Given the description of an element on the screen output the (x, y) to click on. 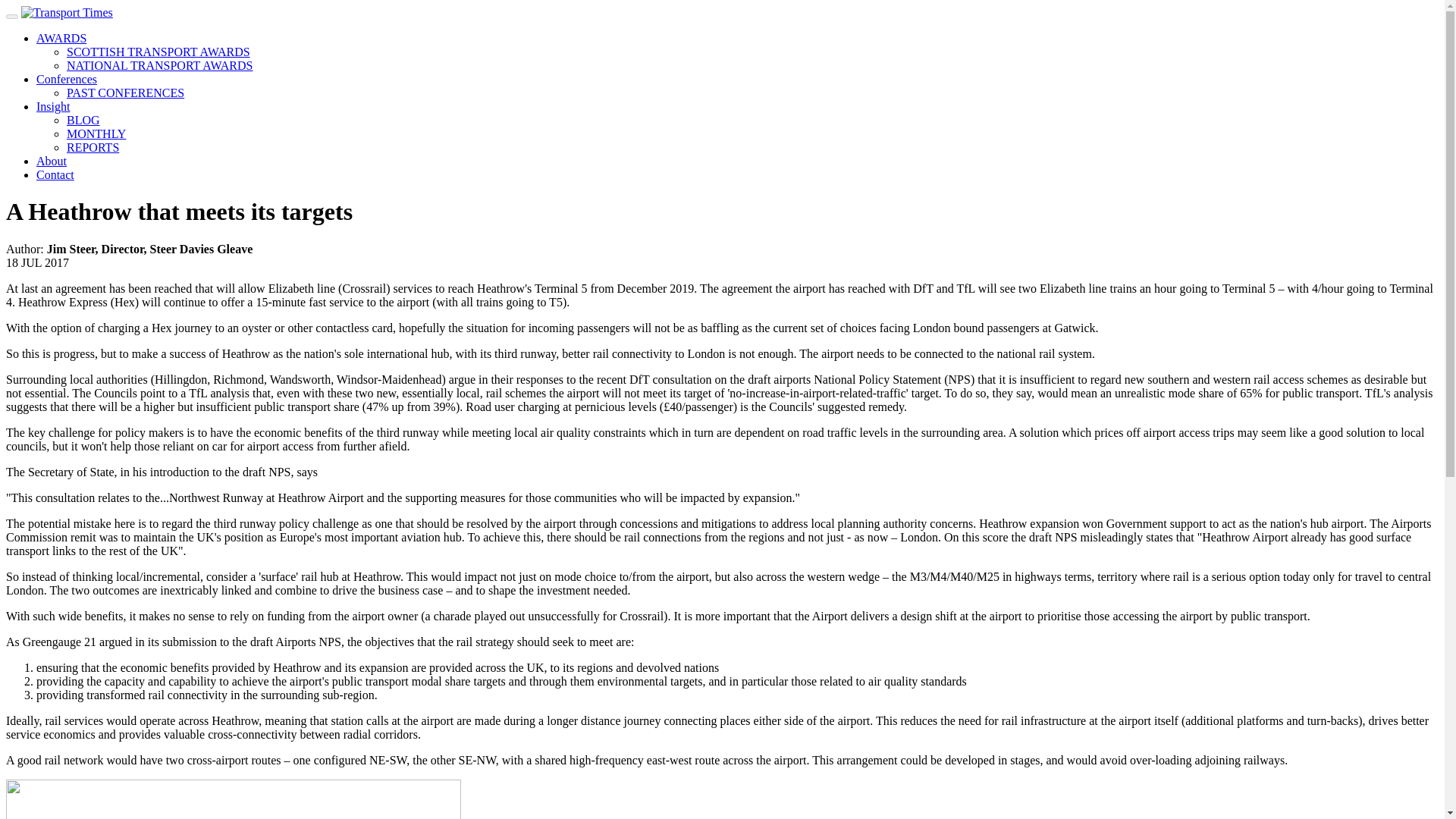
PAST CONFERENCES (125, 92)
Insight (52, 106)
Contact (55, 174)
BLOG (83, 119)
About (51, 160)
REPORTS (92, 146)
NATIONAL TRANSPORT AWARDS (159, 65)
SCOTTISH TRANSPORT AWARDS (158, 51)
AWARDS (60, 38)
Conferences (66, 78)
MONTHLY (95, 133)
